Given the description of an element on the screen output the (x, y) to click on. 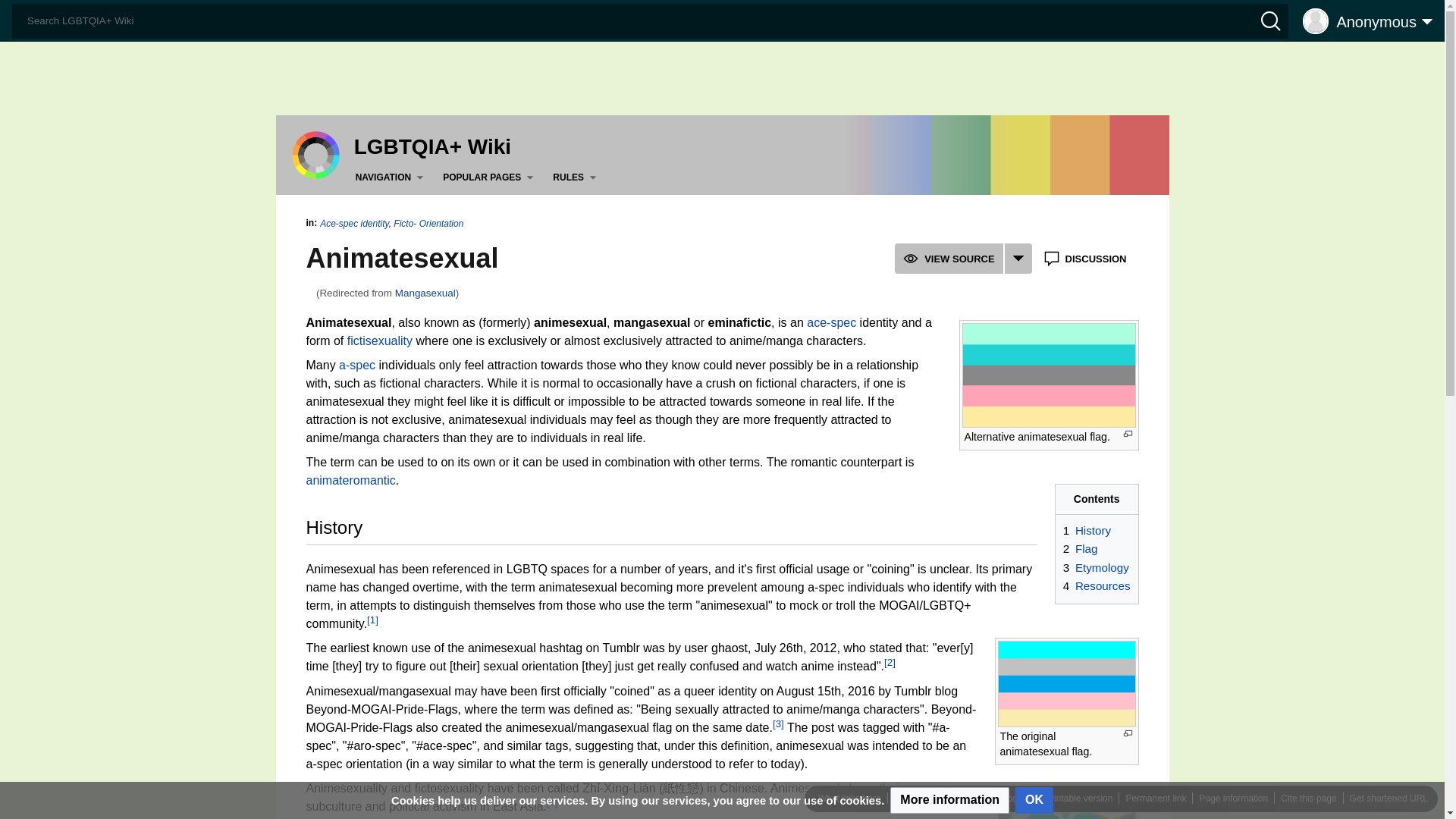
Visit the main page (315, 154)
RULES (577, 177)
Animateromantic (350, 480)
NAVIGATION (392, 177)
POPULAR PAGES (490, 177)
Mangasexual (424, 292)
Go (16, 13)
Asexual Spectrum (831, 322)
A-Spec (357, 364)
Fictosexual (379, 340)
